Given the description of an element on the screen output the (x, y) to click on. 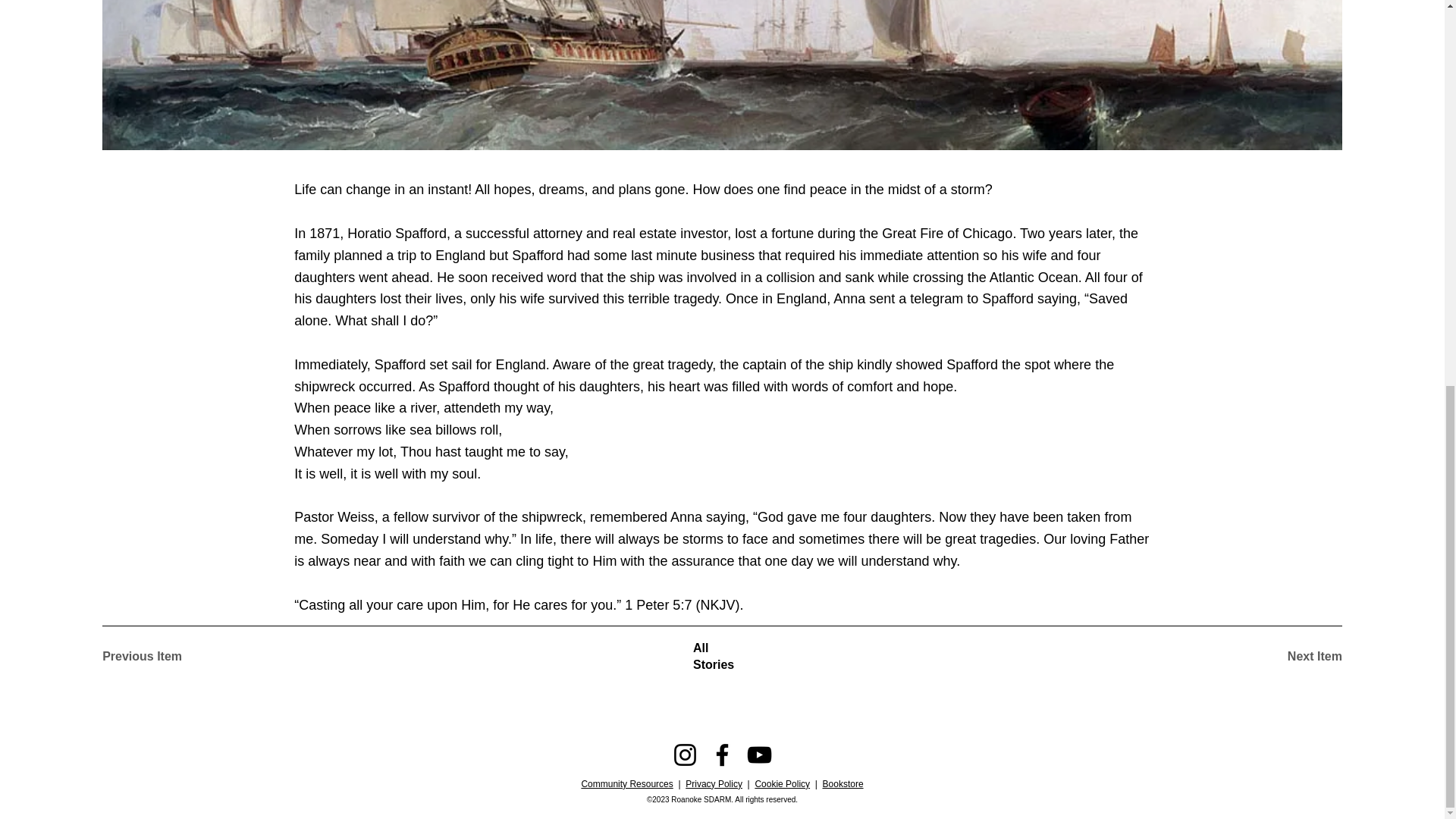
Cookie Policy (781, 783)
All Stories (722, 656)
Privacy Policy (713, 783)
Next Item (1288, 656)
Community Resources (626, 783)
Bookstore (842, 783)
Previous Item (155, 656)
